Given the description of an element on the screen output the (x, y) to click on. 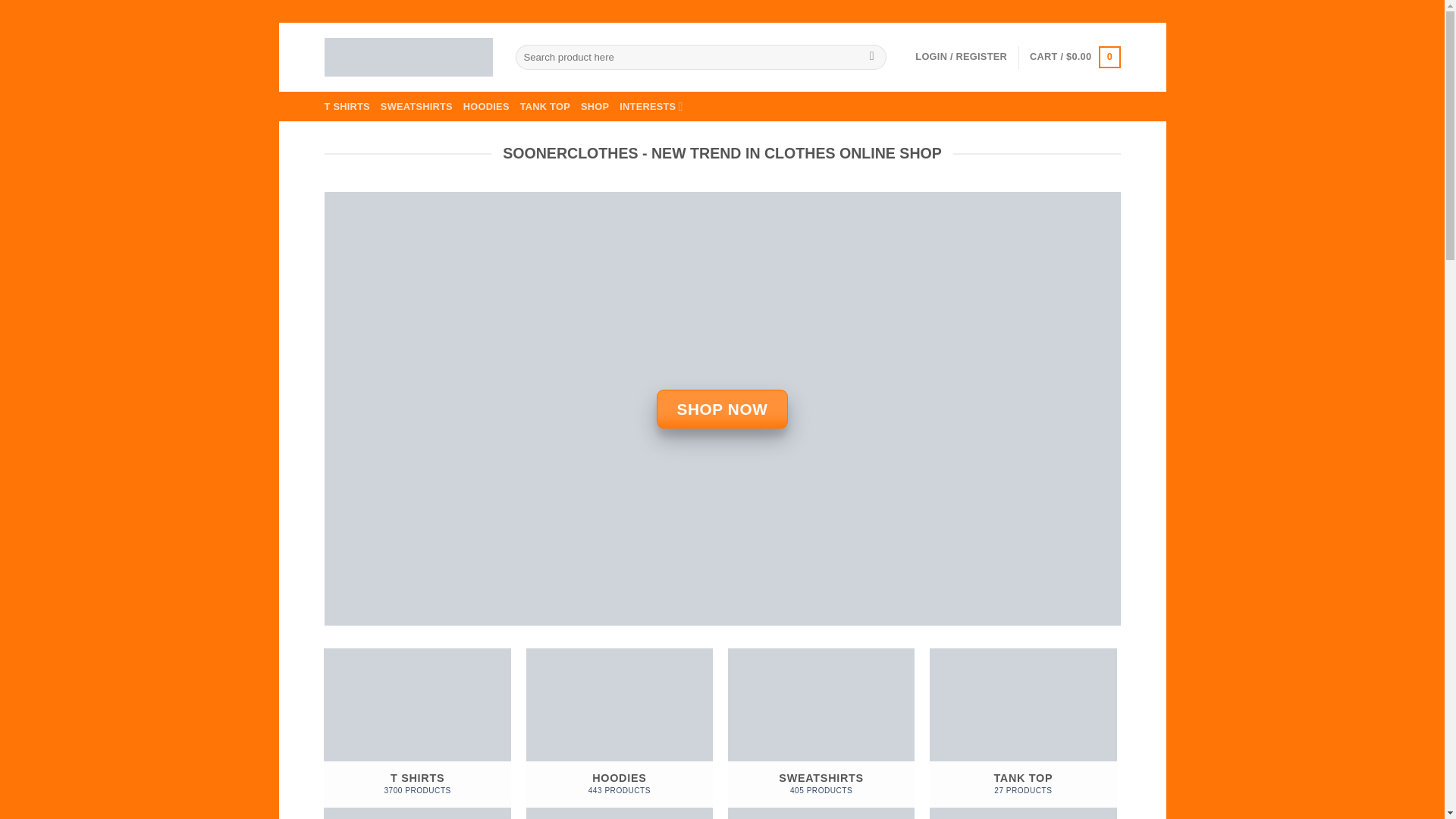
T SHIRTS (346, 106)
SHOP (594, 106)
Search (871, 57)
SWEATSHIRTS (416, 106)
New trend in clothes 3 (417, 733)
HOODIES (417, 733)
SHOP NOW (486, 106)
INTERESTS (721, 408)
New trend in clothes 4 (651, 106)
